Given the description of an element on the screen output the (x, y) to click on. 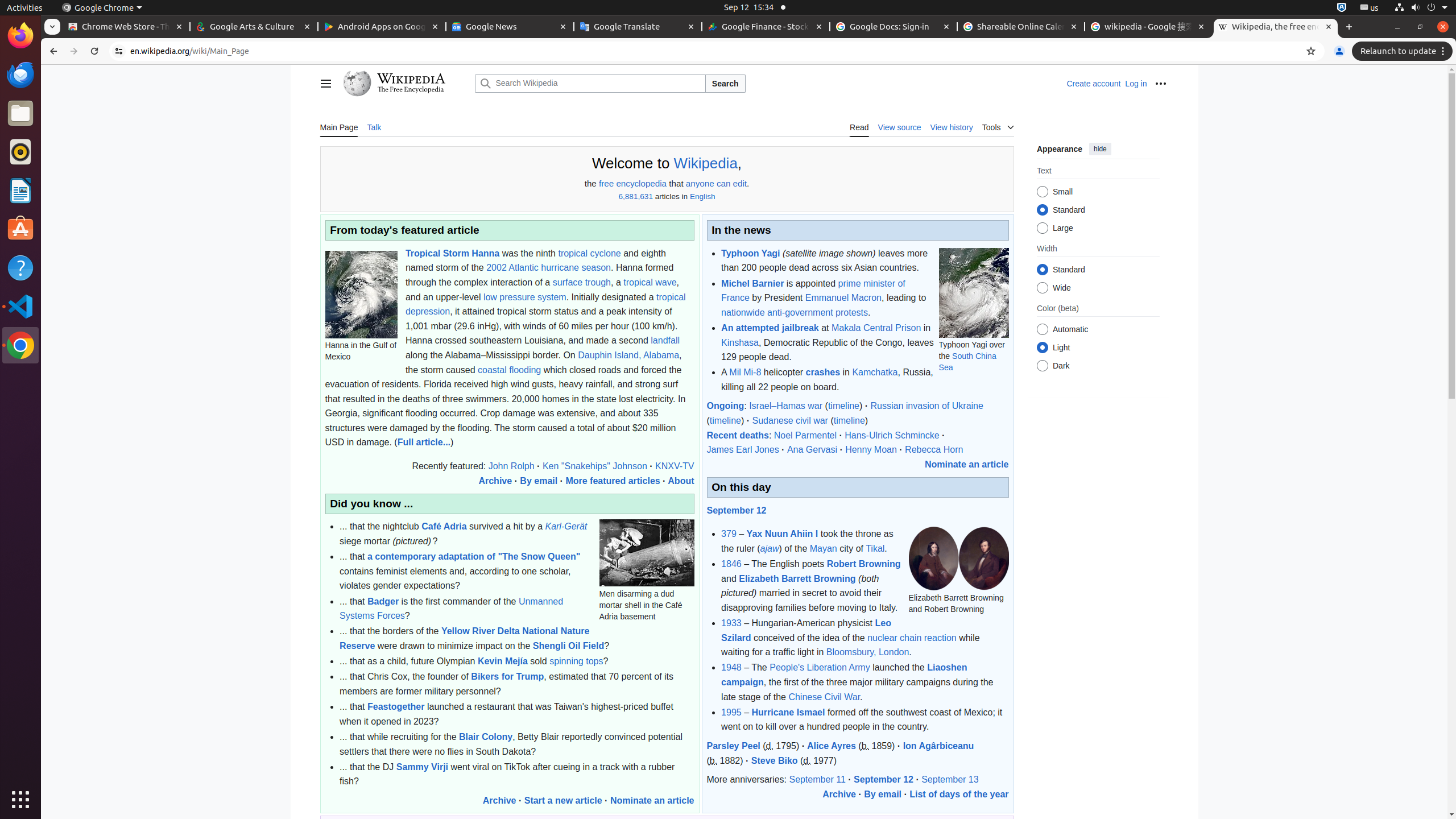
Unmanned Systems Forces Element type: link (451, 608)
South China Sea Element type: link (967, 361)
Help Element type: push-button (20, 267)
Café Adria Element type: link (443, 526)
Rebecca Horn Element type: link (933, 449)
